Given the description of an element on the screen output the (x, y) to click on. 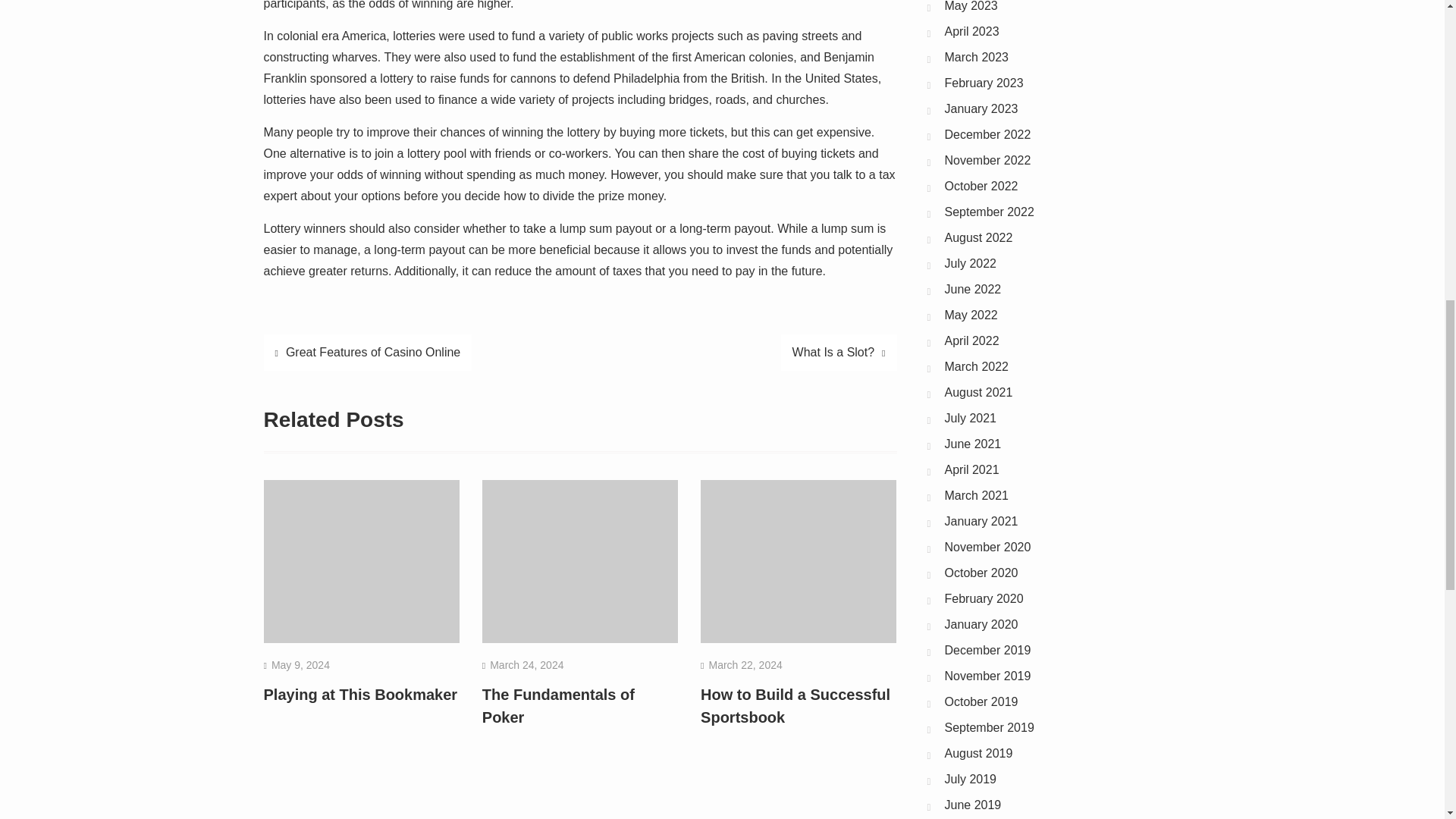
Great Features of Casino Online (367, 352)
Playing at This Bookmaker (360, 694)
The Fundamentals of Poker (557, 705)
What Is a Slot? (838, 352)
How to Build a Successful Sportsbook (794, 705)
